Given the description of an element on the screen output the (x, y) to click on. 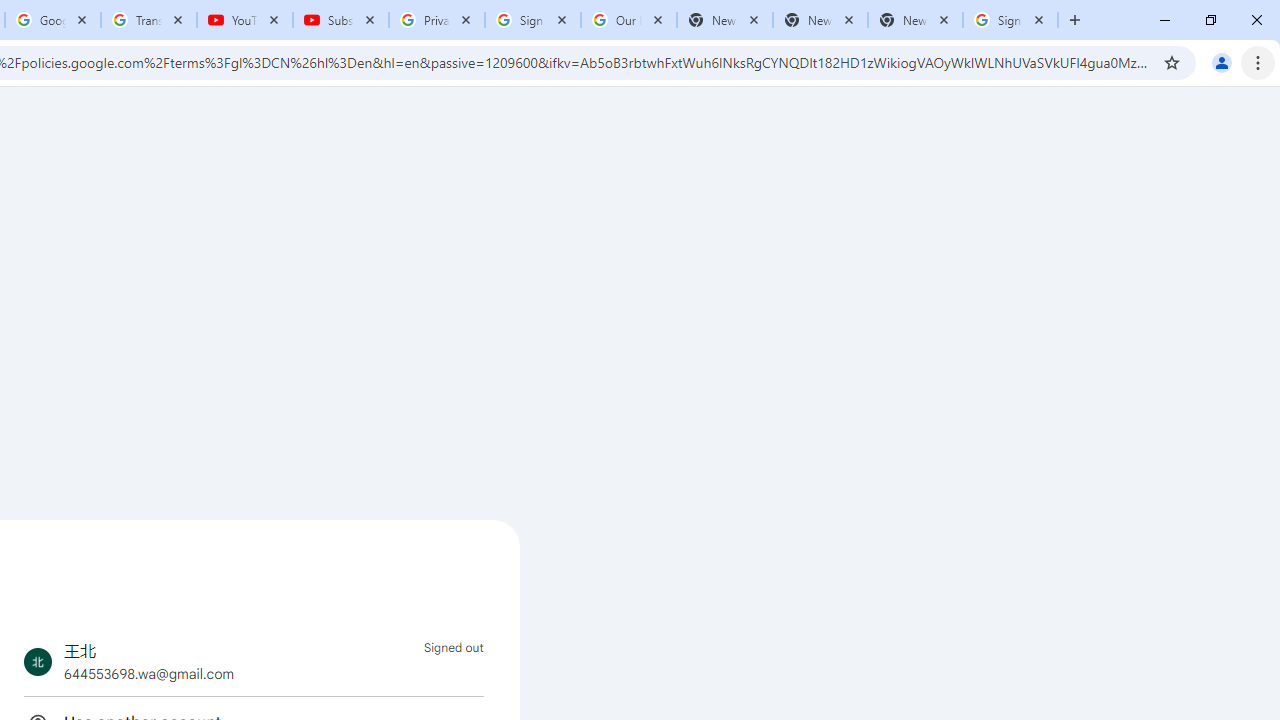
New Tab (914, 20)
Sign in - Google Accounts (1010, 20)
Sign in - Google Accounts (533, 20)
